Given the description of an element on the screen output the (x, y) to click on. 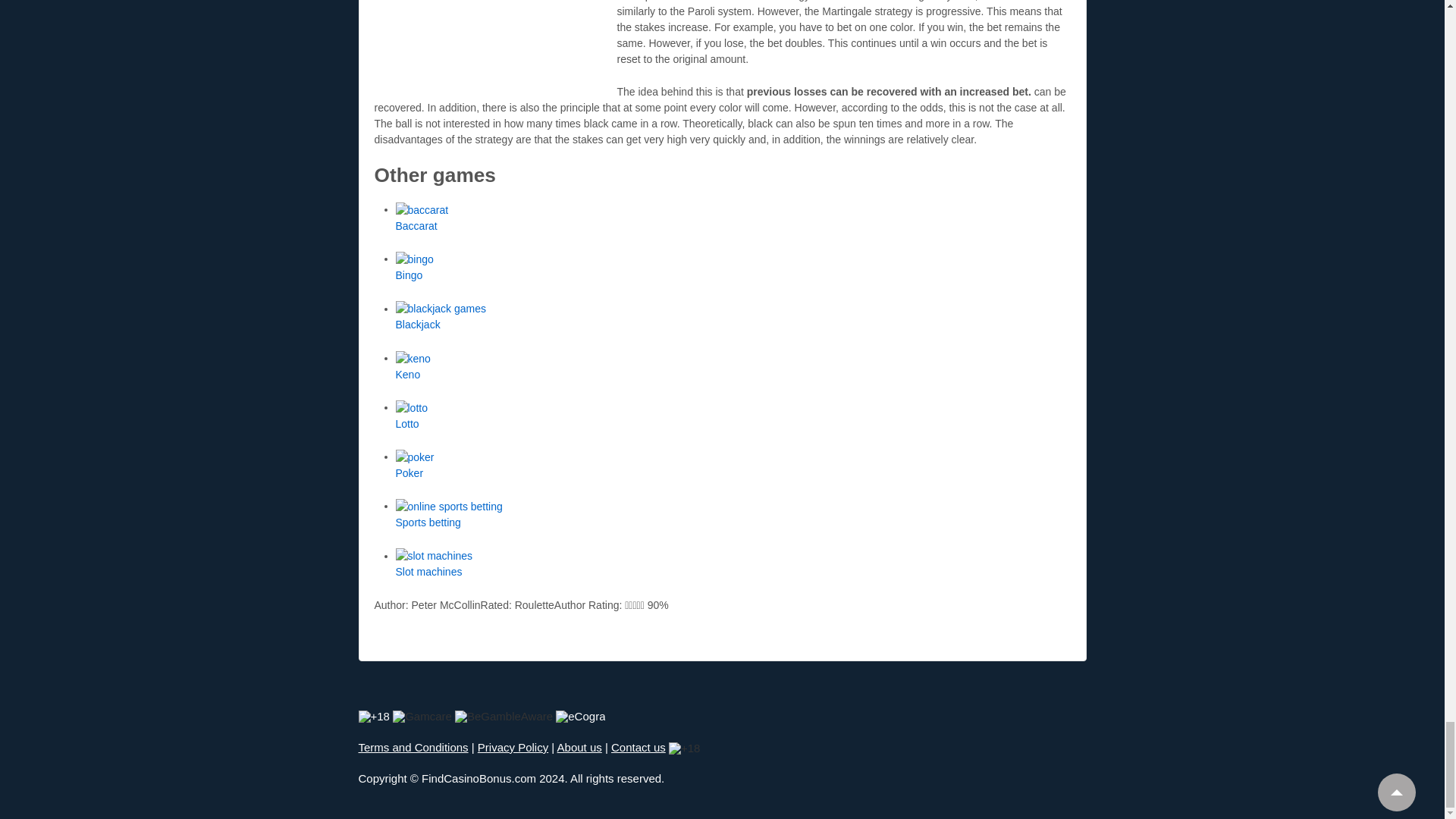
Poker (409, 472)
Slot machines (429, 571)
Baccarat (417, 225)
Privacy Policy (512, 747)
Keno (408, 374)
Sports betting (428, 522)
About us (579, 747)
Lotto (407, 423)
Blackjack (418, 324)
Bingo (409, 275)
